Given the description of an element on the screen output the (x, y) to click on. 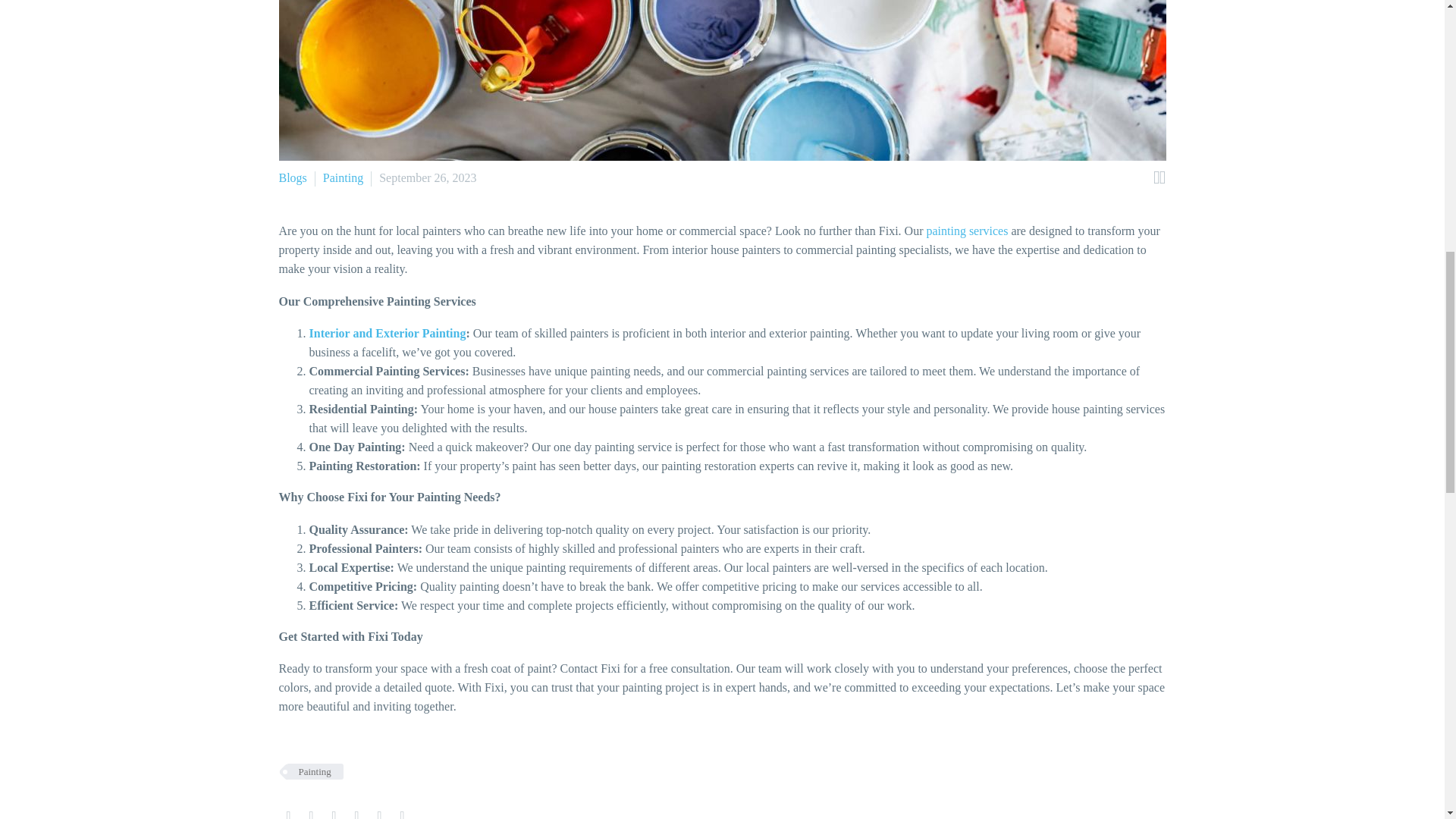
View all posts in Blogs (293, 177)
LinkedIn (378, 814)
Facebook (288, 814)
View all posts in Painting (342, 177)
Tumblr (356, 814)
Pinterest (333, 814)
Twitter (310, 814)
Reddit (401, 814)
